Given the description of an element on the screen output the (x, y) to click on. 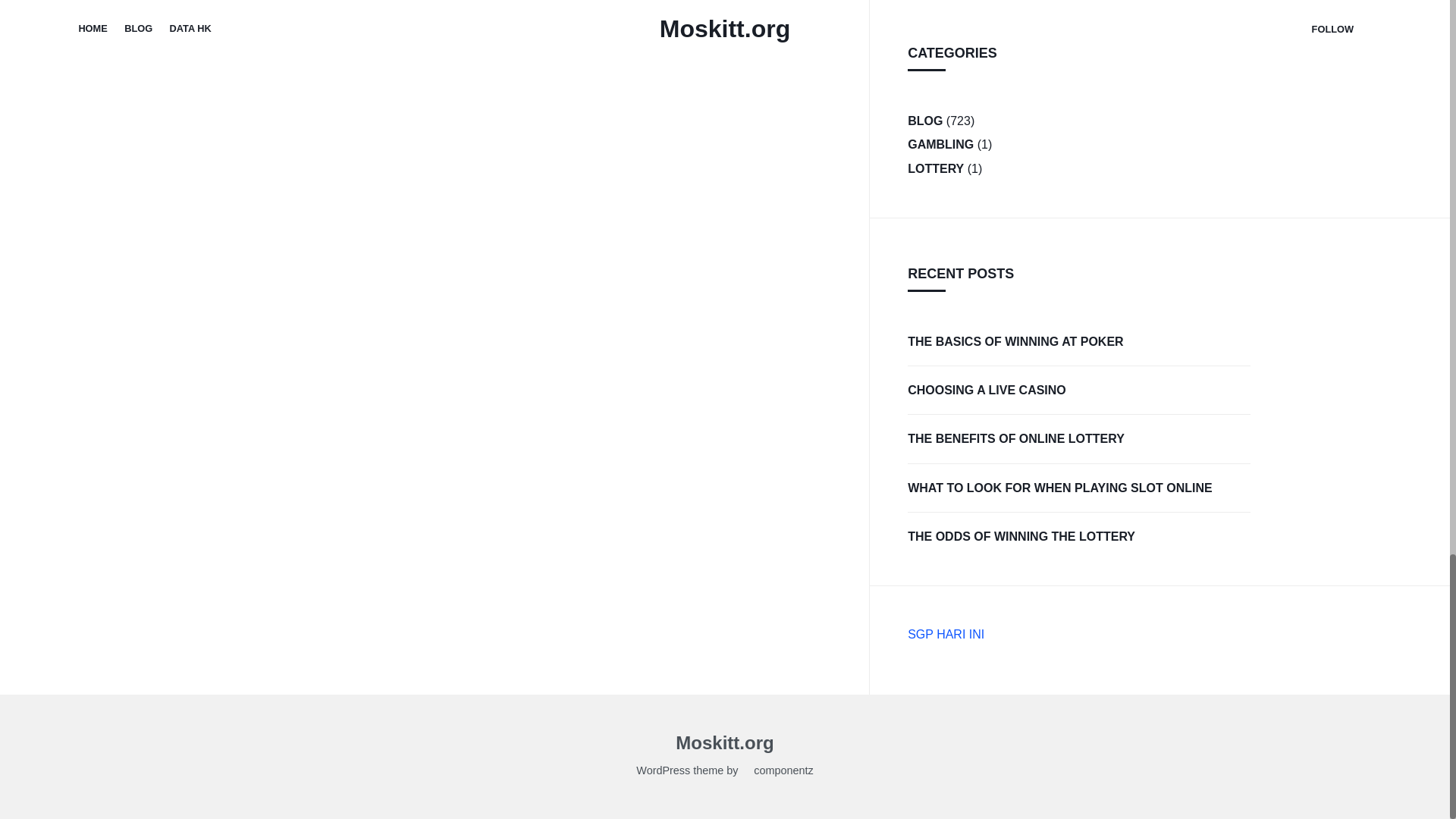
Moskitt.org (724, 745)
WordPress (663, 772)
